Given the description of an element on the screen output the (x, y) to click on. 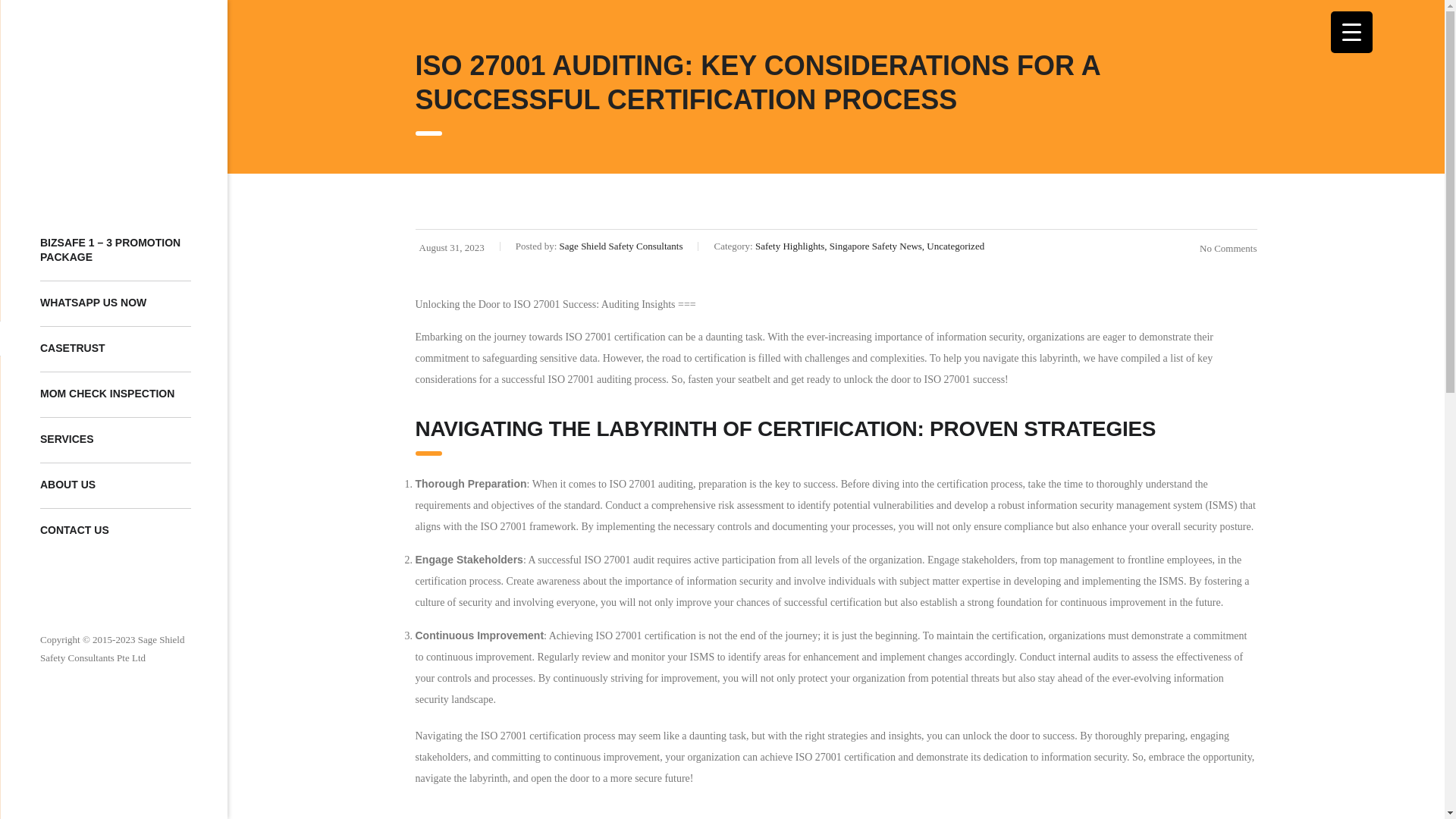
ABOUT US (115, 484)
MOM CHECK INSPECTION (115, 393)
SERVICES (115, 439)
CASETRUST (115, 348)
WHATSAPP US NOW (115, 302)
CONTACT US (115, 530)
